Given the description of an element on the screen output the (x, y) to click on. 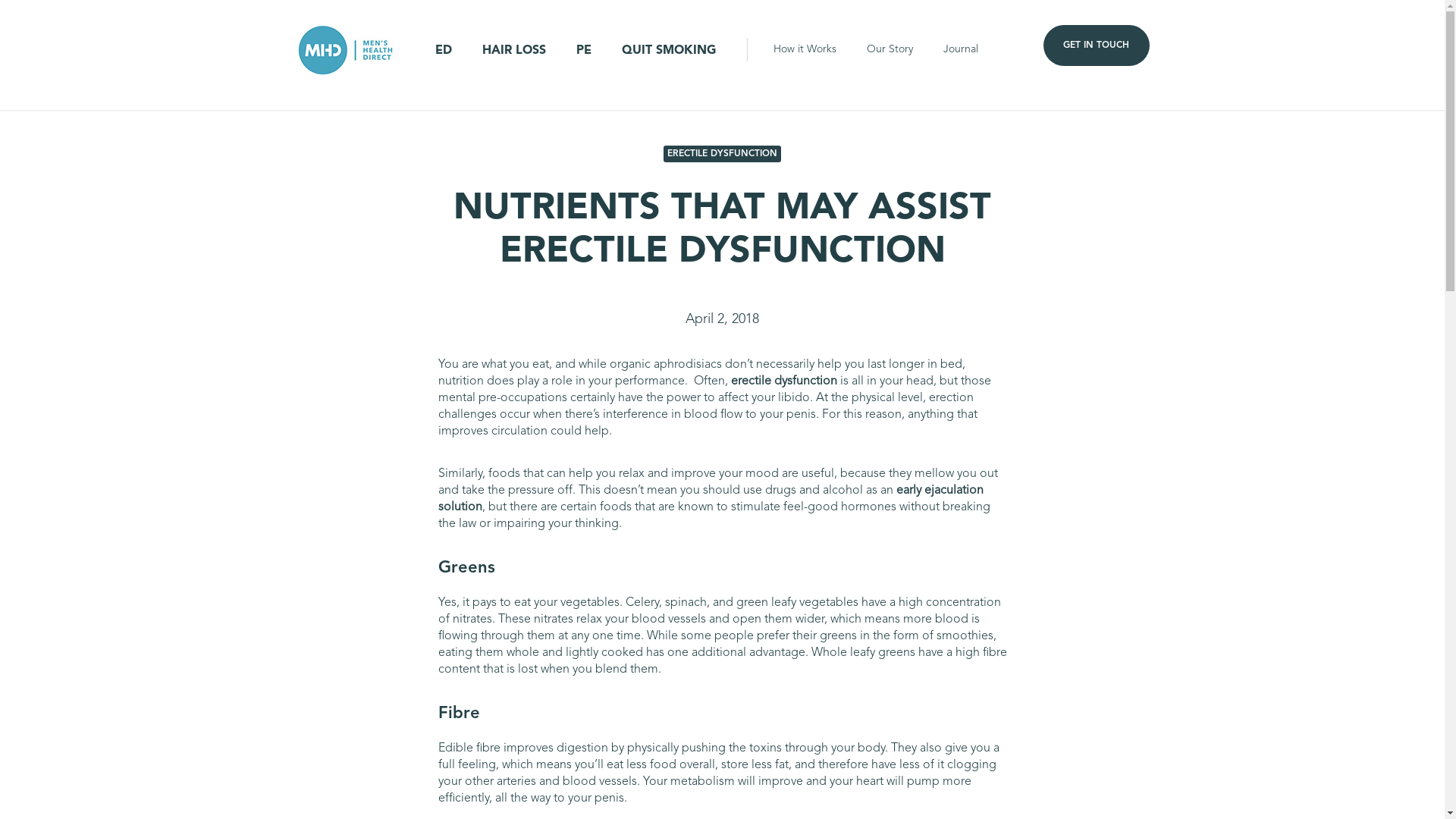
ED Element type: text (443, 50)
Journal Element type: text (960, 49)
How it Works Element type: text (804, 49)
PE Element type: text (583, 50)
HAIR LOSS Element type: text (514, 50)
QUIT SMOKING Element type: text (668, 50)
Our Story Element type: text (889, 49)
GET IN TOUCH Element type: text (1096, 45)
